Given the description of an element on the screen output the (x, y) to click on. 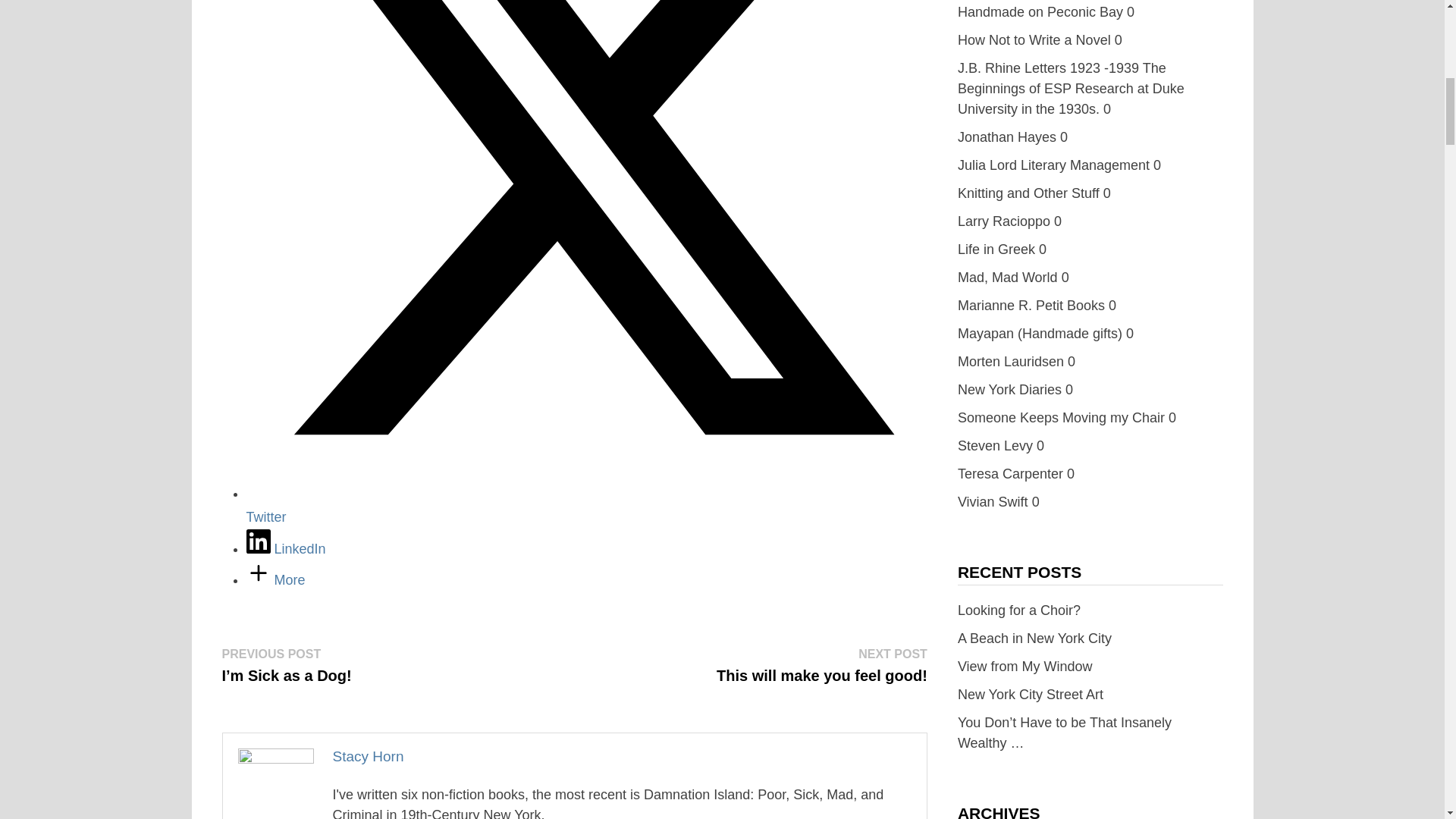
Twitter (586, 505)
More (275, 580)
LinkedIn (285, 548)
